Given the description of an element on the screen output the (x, y) to click on. 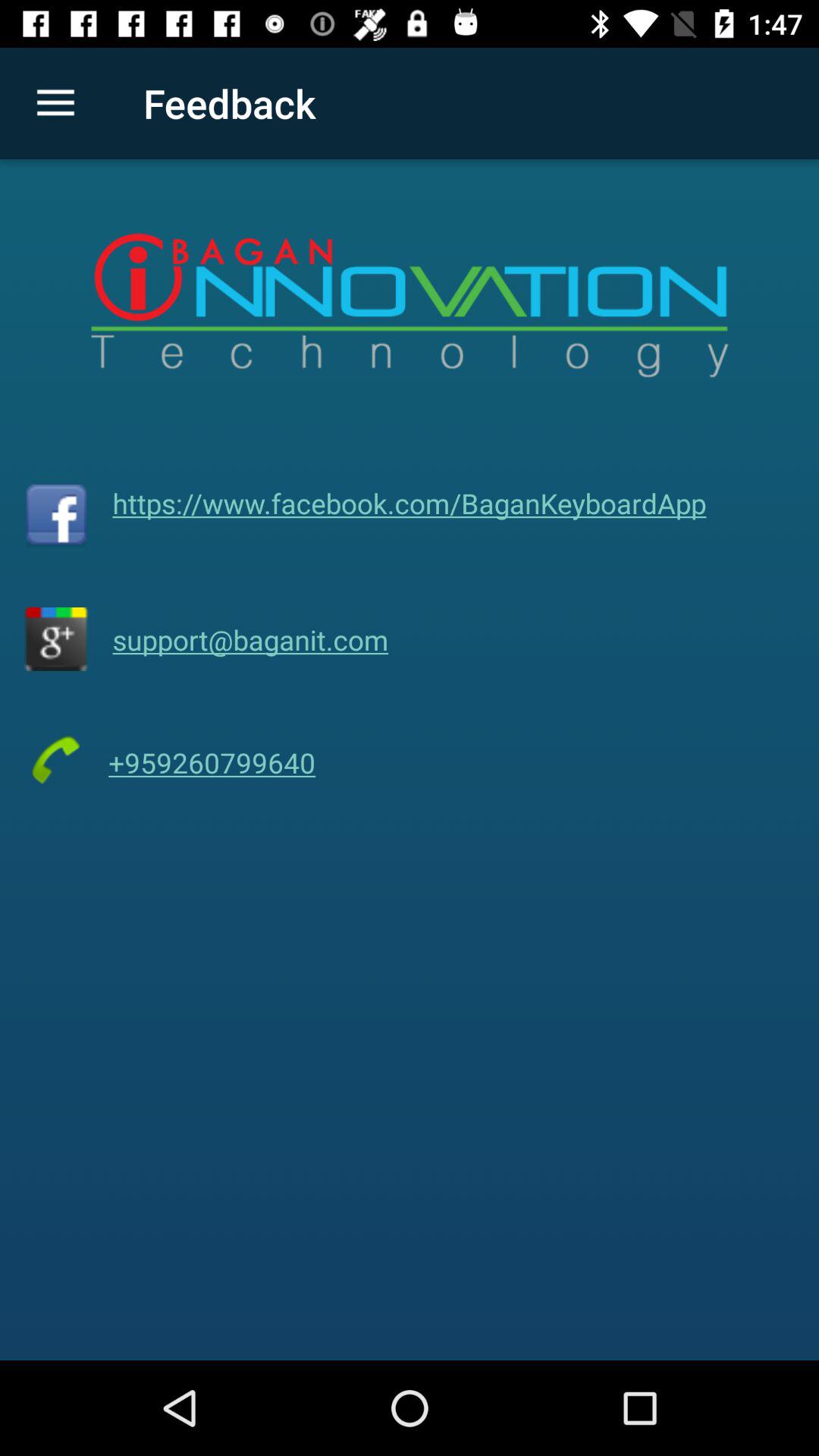
launch item below the https www facebook (250, 639)
